Given the description of an element on the screen output the (x, y) to click on. 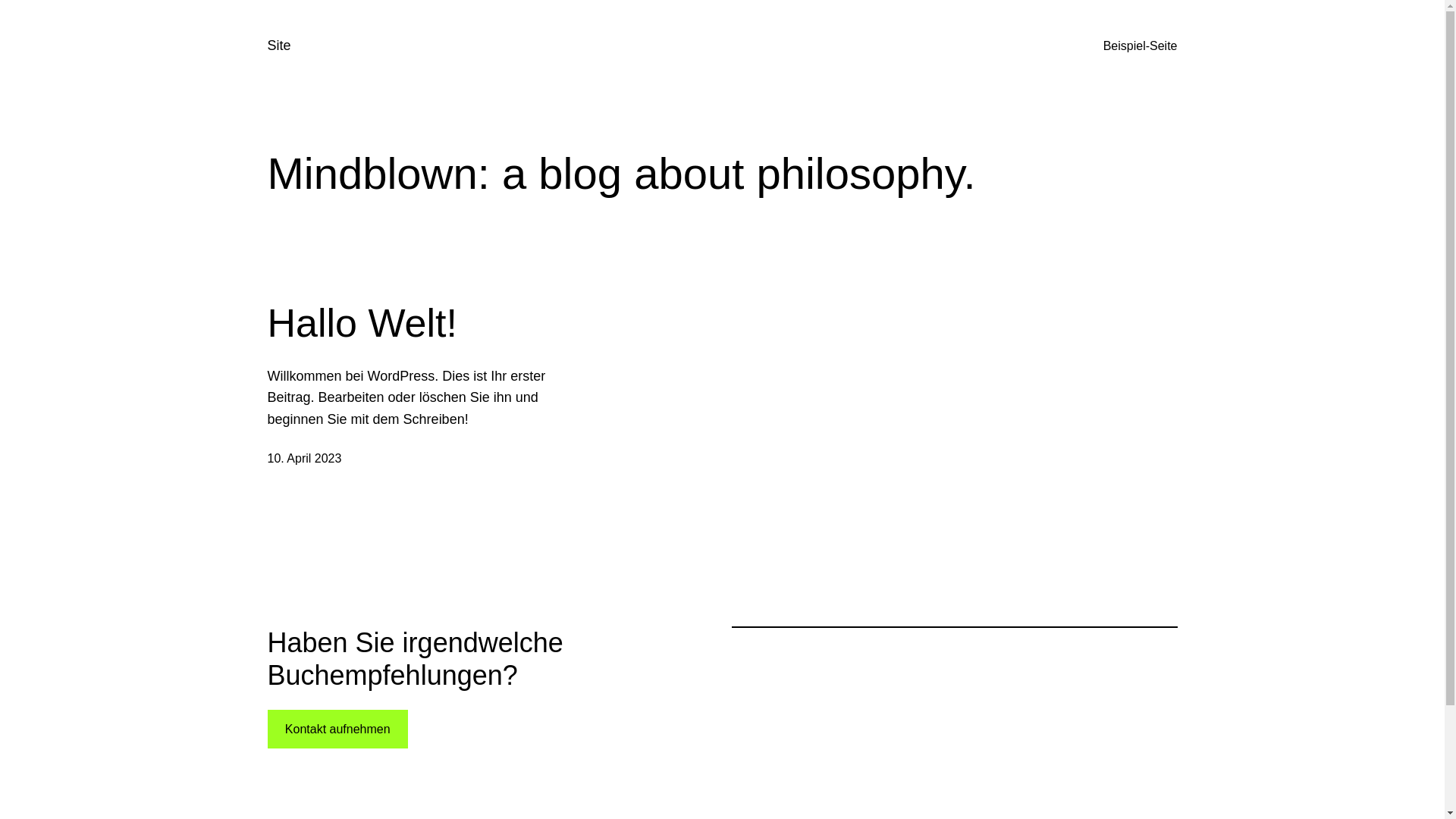
Site Element type: text (278, 45)
Beispiel-Seite Element type: text (1140, 46)
10. April 2023 Element type: text (303, 457)
Kontakt aufnehmen Element type: text (336, 728)
Hallo Welt! Element type: text (361, 322)
